Given the description of an element on the screen output the (x, y) to click on. 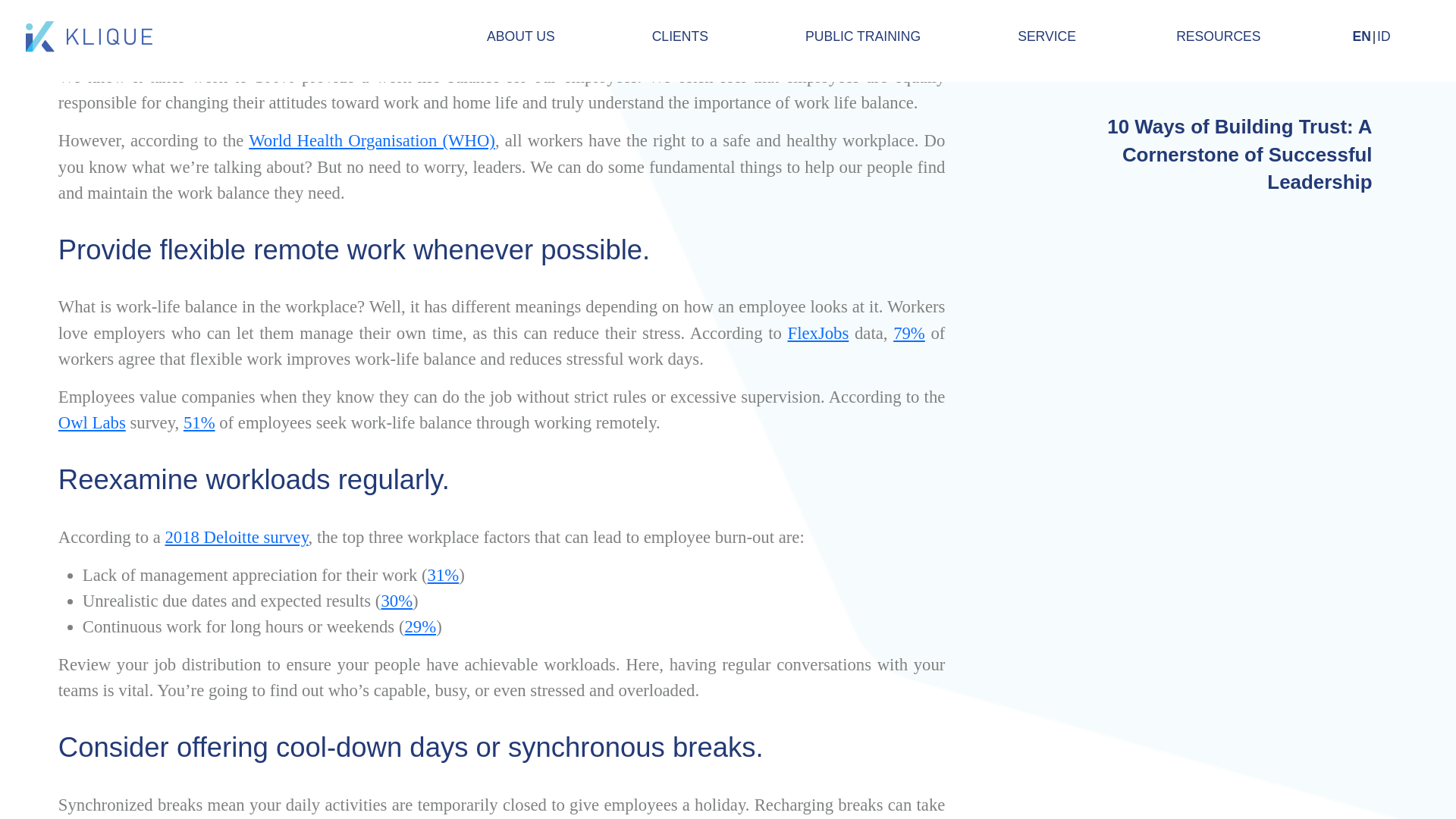
2018 Deloitte survey (235, 537)
FlexJobs (817, 332)
Owl Labs (91, 422)
